Given the description of an element on the screen output the (x, y) to click on. 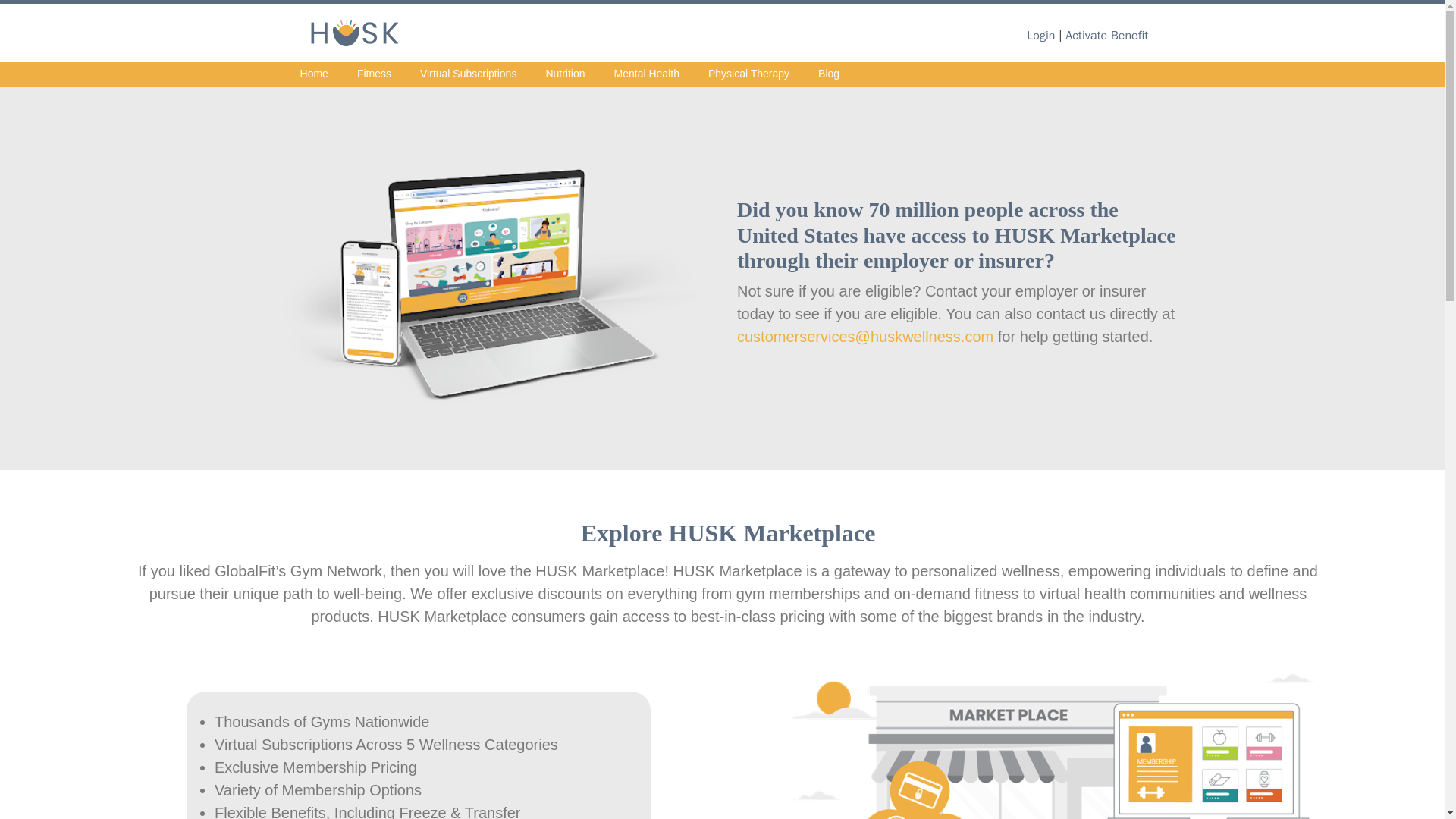
Virtual Subscriptions (467, 74)
Nutrition (564, 74)
Blog (828, 74)
Physical Therapy (748, 74)
Mental Health (646, 74)
Fitness (373, 74)
Home (314, 74)
Eligibility (354, 32)
Activate Benefit (1106, 35)
Login (1040, 35)
